Given the description of an element on the screen output the (x, y) to click on. 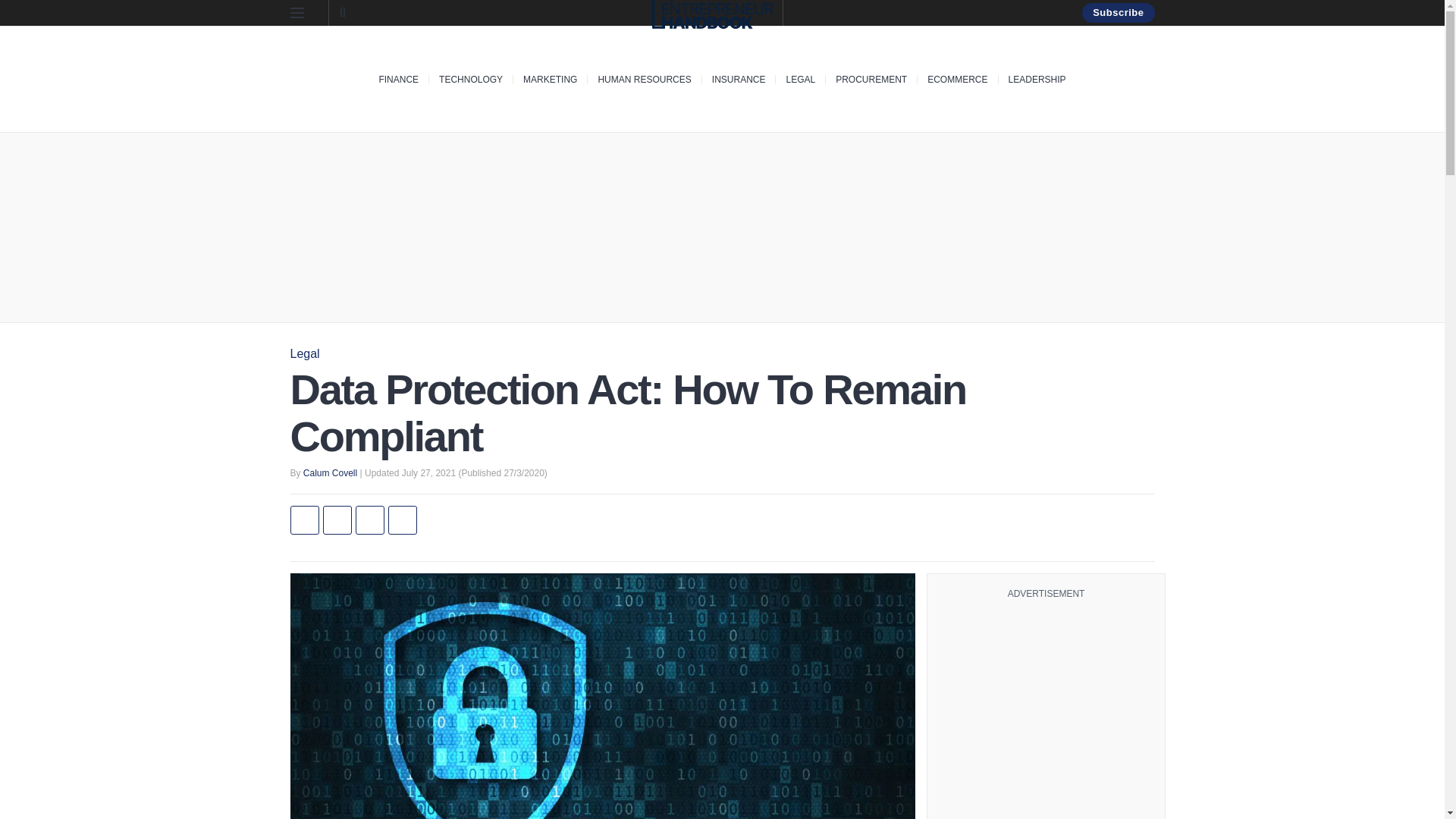
ECOMMERCE (957, 78)
FINANCE (398, 78)
Calum Covell (329, 472)
MARKETING (549, 78)
Subscribe (1117, 12)
LEGAL (800, 78)
PROCUREMENT (871, 78)
LEADERSHIP (1037, 78)
Legal (303, 353)
HUMAN RESOURCES (643, 78)
TECHNOLOGY (470, 78)
INSURANCE (738, 78)
